Given the description of an element on the screen output the (x, y) to click on. 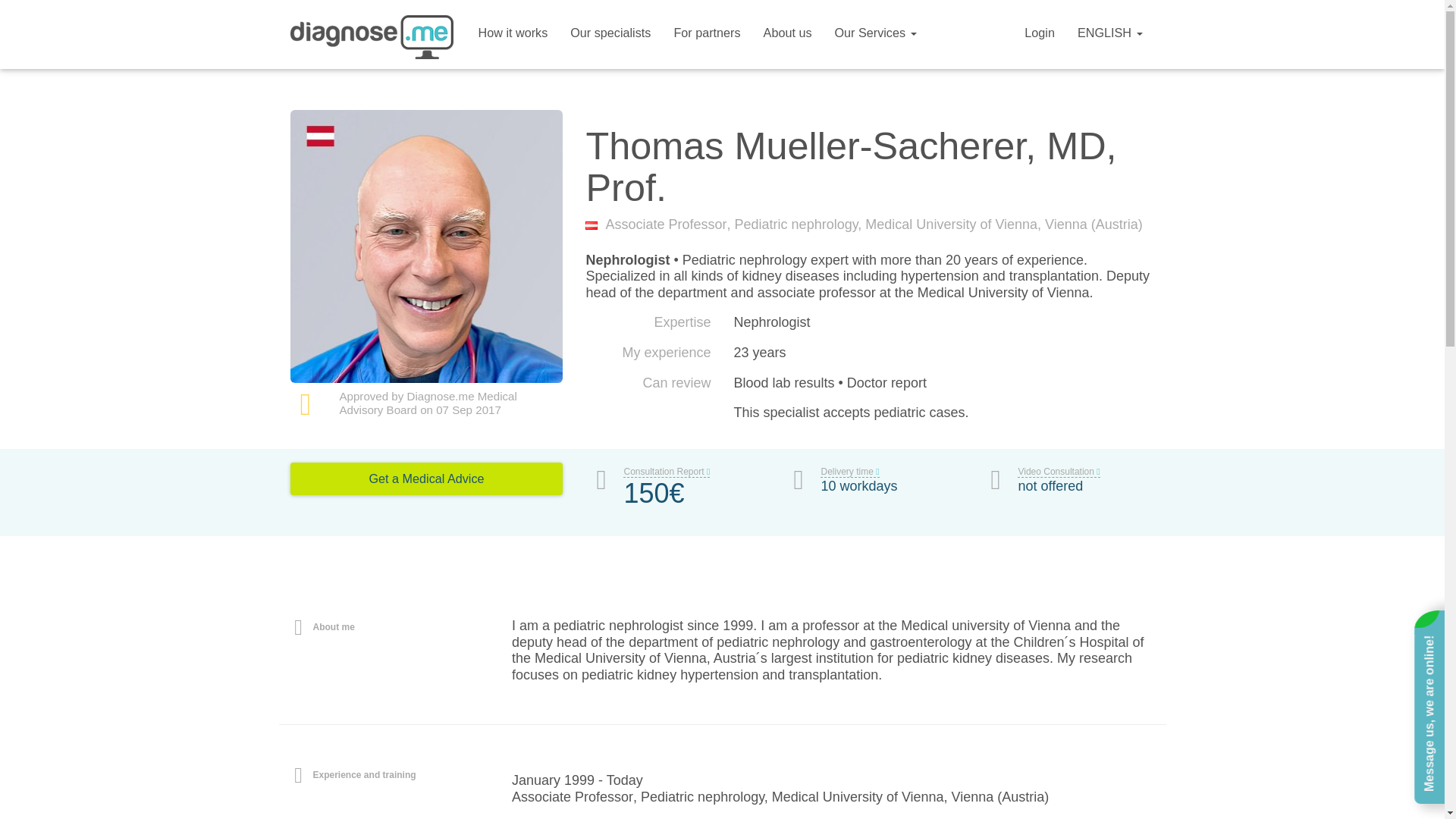
Diagnose.me (370, 41)
Our Services (874, 28)
How it works (513, 28)
About us (788, 28)
ENGLISH (1109, 28)
For partners (706, 28)
Profile - Thomas Mueller-Sacherer (370, 41)
Login (1039, 28)
Get a Medical Advice (425, 478)
Our specialists (610, 28)
